Given the description of an element on the screen output the (x, y) to click on. 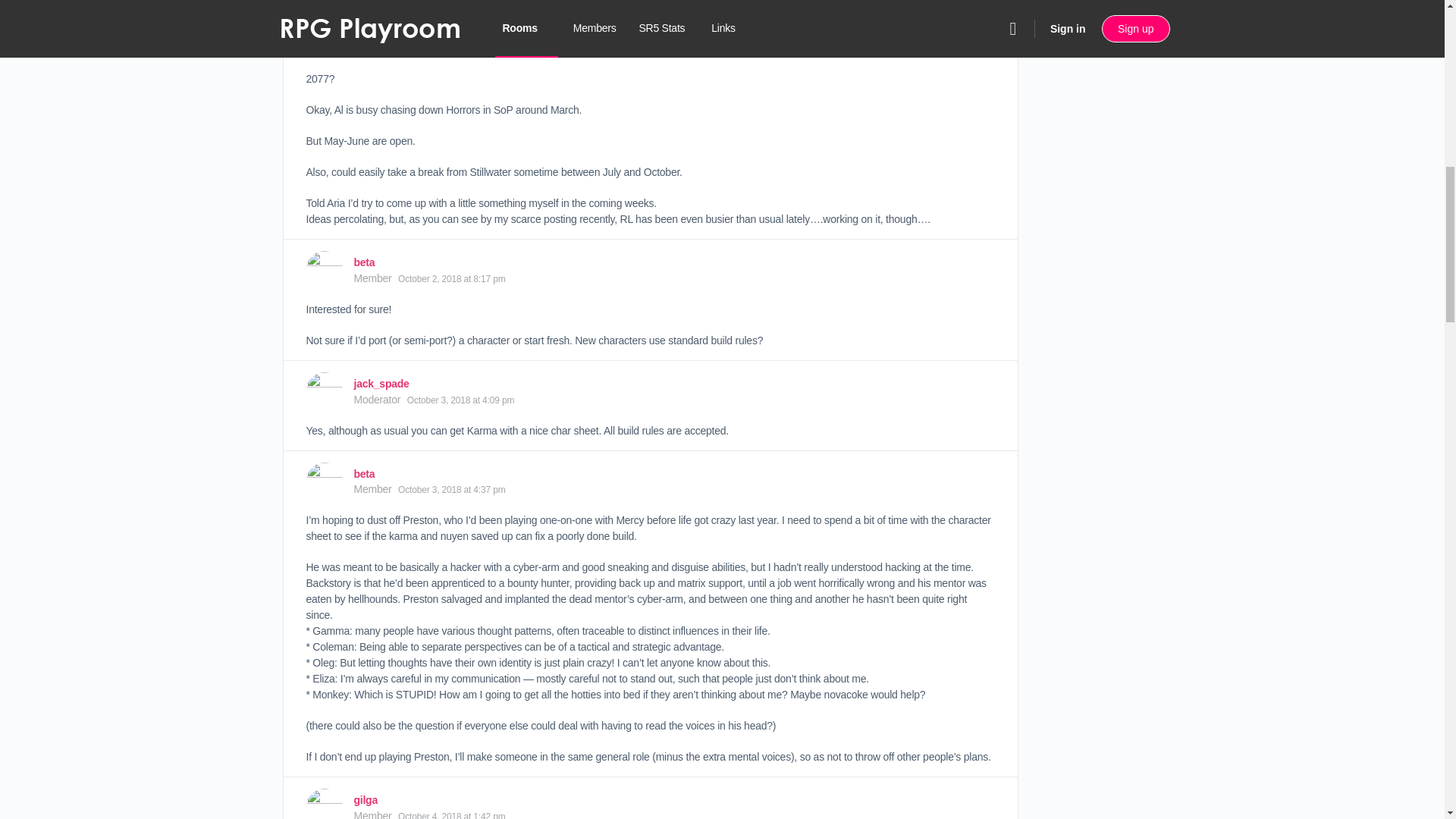
View adamu's profile (323, 12)
View gilga's profile (365, 799)
View beta's profile (363, 262)
View beta's profile (323, 480)
View adamu's profile (370, 3)
View gilga's profile (323, 803)
View beta's profile (323, 268)
View beta's profile (363, 473)
